Given the description of an element on the screen output the (x, y) to click on. 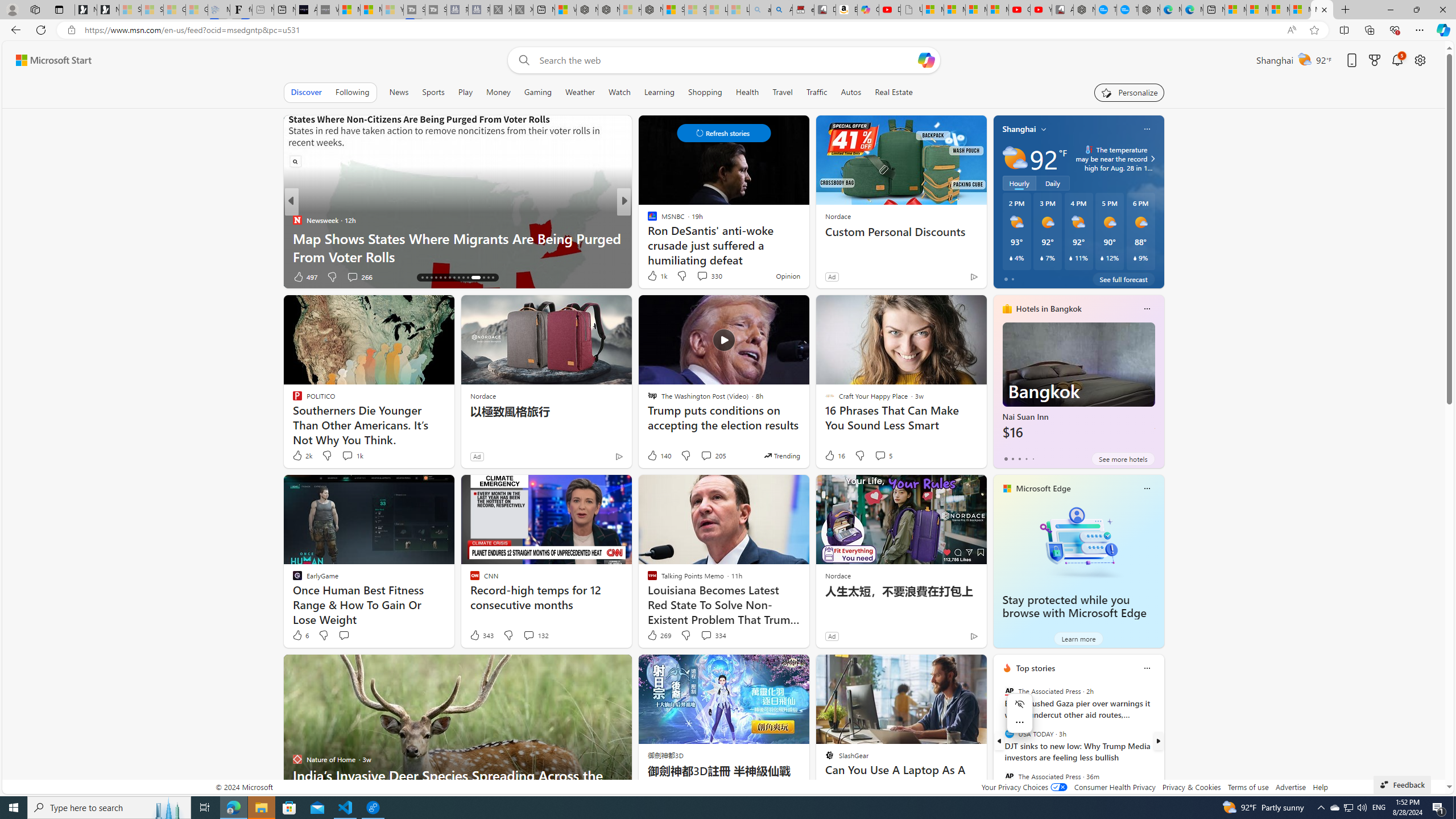
AutomationID: tab-22 (449, 277)
Web search (520, 60)
Amazon Echo Dot PNG - Search Images (781, 9)
This story is trending (781, 455)
AutomationID: tab-19 (435, 277)
View comments 205 Comment (705, 455)
Learning (659, 92)
View comments 5 Comment (879, 455)
Traffic (816, 92)
